Given the description of an element on the screen output the (x, y) to click on. 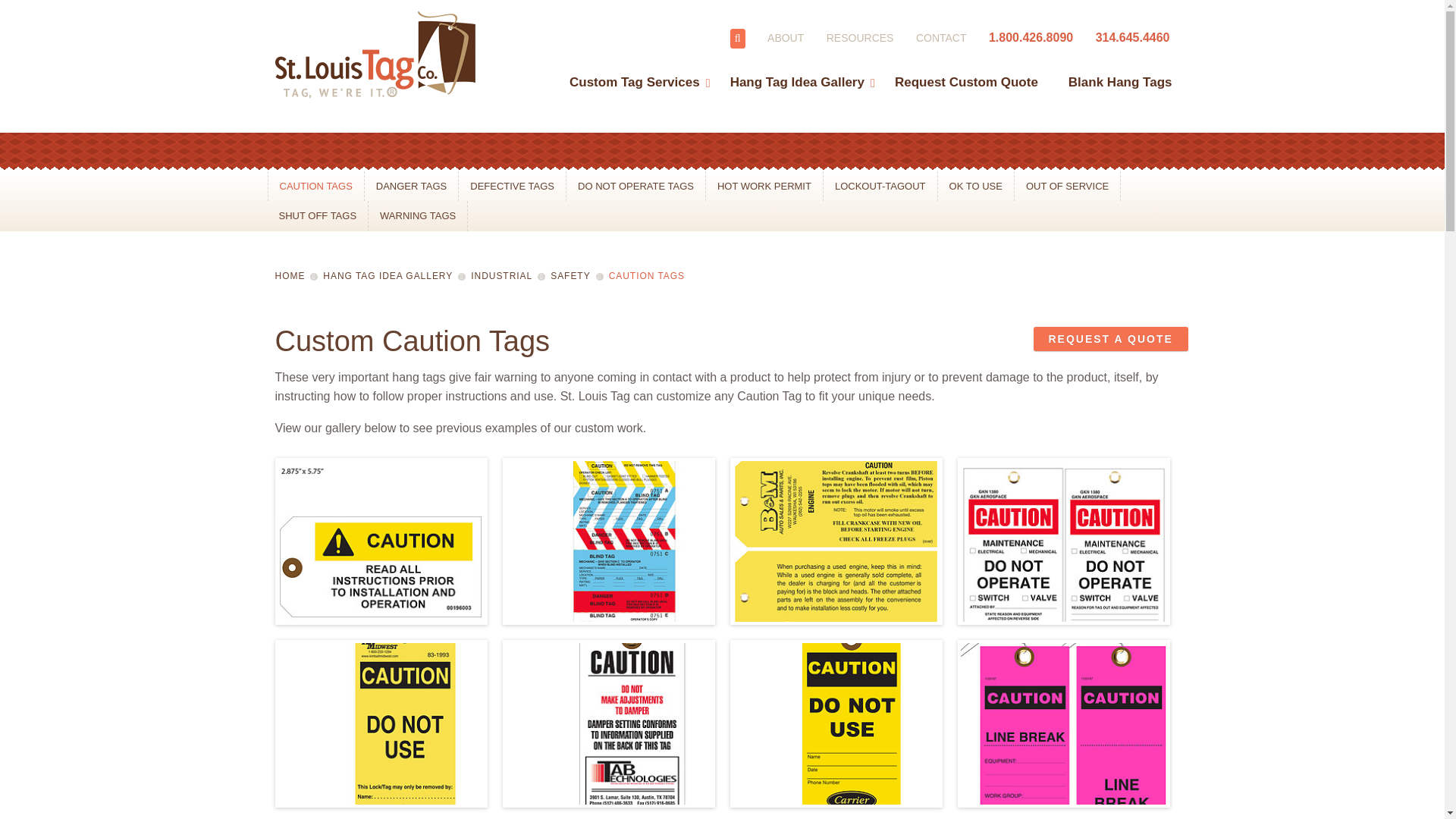
1.800.426.8090 (1030, 37)
Hang Tag Idea Gallery (796, 70)
Caution Read All Instructions (380, 541)
Caution Do Not Use (835, 723)
Request Custom Quote (965, 70)
CONTACT (940, 37)
Contact St. Louis Tag Today! (940, 37)
ABOUT (785, 37)
About St. Louis Tag (785, 37)
Search (737, 37)
